Given the description of an element on the screen output the (x, y) to click on. 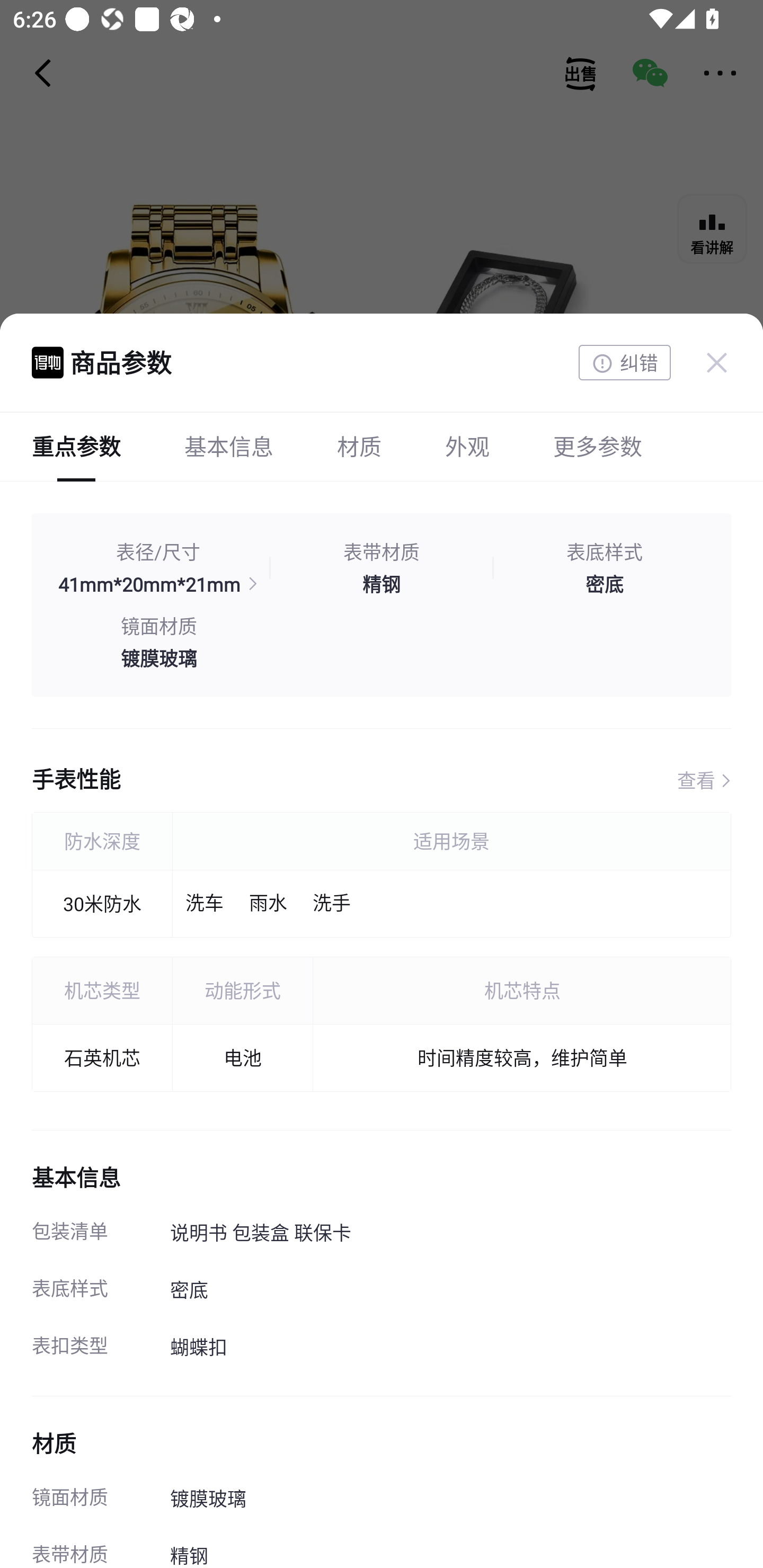
 (716, 362)
纠错 (624, 362)
重点参数 (76, 445)
基本信息 (228, 445)
材质 (359, 445)
外观 (467, 445)
更多参数 (597, 445)
表径/尺寸 41mm*20mm*21mm (158, 568)
表带材质 精钢 (381, 568)
表底样式 密底 (604, 568)
41mm*20mm*21mm (157, 583)
精钢 (381, 583)
密底 (604, 583)
镜面材质 镀膜玻璃 (158, 642)
镀膜玻璃 (158, 657)
洗车 (204, 903)
雨水 (267, 903)
洗手 (331, 903)
说明书 包装盒 联保卡 (450, 1233)
密底 (450, 1291)
蝴蝶扣 (450, 1348)
镀膜玻璃 (450, 1499)
精钢 (450, 1548)
